Given the description of an element on the screen output the (x, y) to click on. 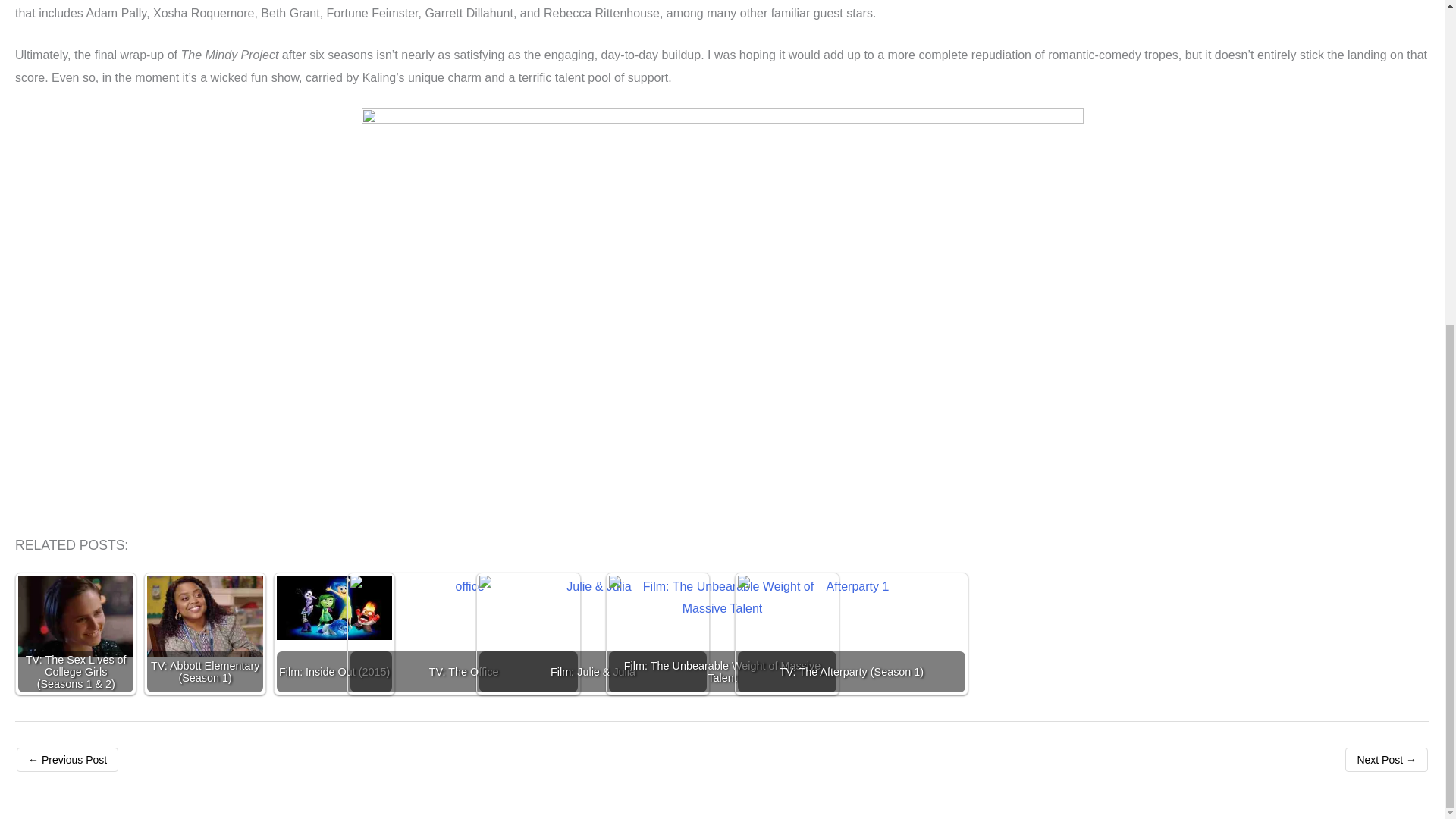
Film: The Unbearable Weight of Massive Talent (721, 651)
Album: X-Mas Death Jazz by Panzerballett (1386, 759)
TV: The Office (464, 645)
Film: Thor: Ragnarok (66, 759)
